Given the description of an element on the screen output the (x, y) to click on. 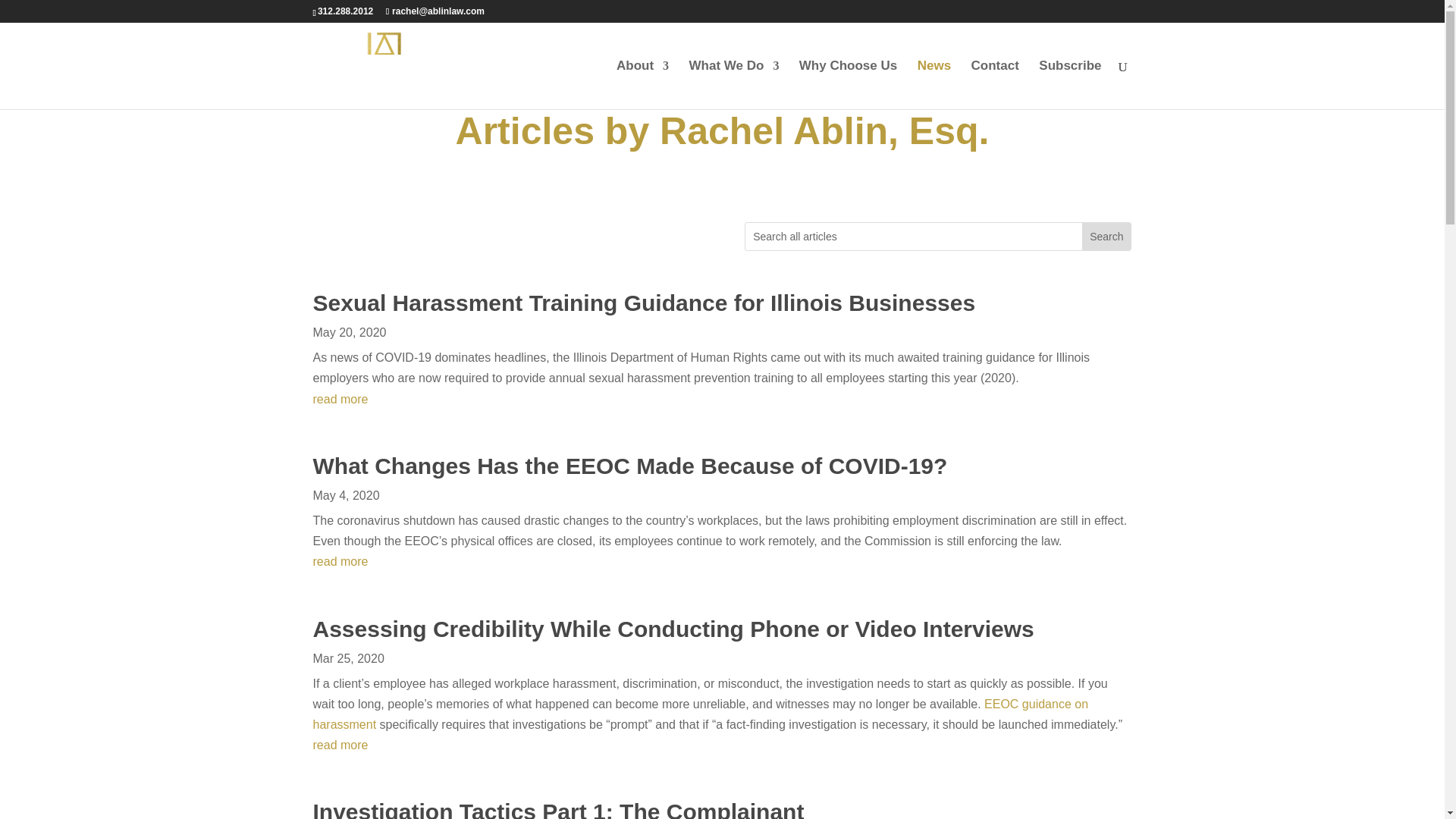
Subscribe (1069, 84)
read more (722, 744)
Contact (995, 84)
Search (1106, 236)
Search (1106, 236)
read more (722, 399)
Why Choose Us (847, 84)
About (641, 84)
Sexual Harassment Training Guidance for Illinois Businesses (644, 302)
EEOC guidance on harassment (700, 714)
Search (1106, 236)
What We Do (733, 84)
Investigation Tactics Part 1: The Complainant (558, 809)
read more (722, 561)
